Given the description of an element on the screen output the (x, y) to click on. 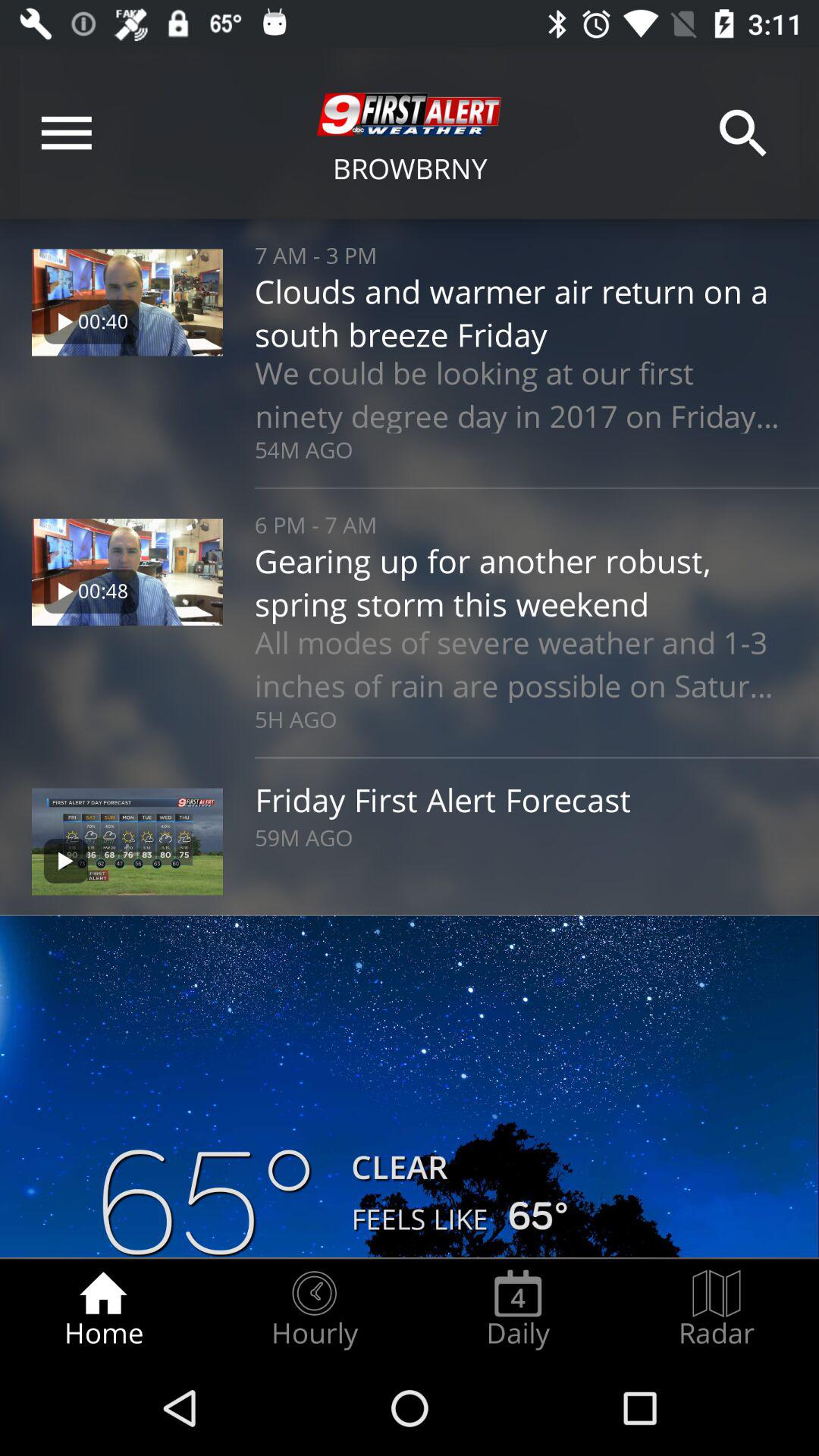
choose item to the left of the daily item (314, 1309)
